Given the description of an element on the screen output the (x, y) to click on. 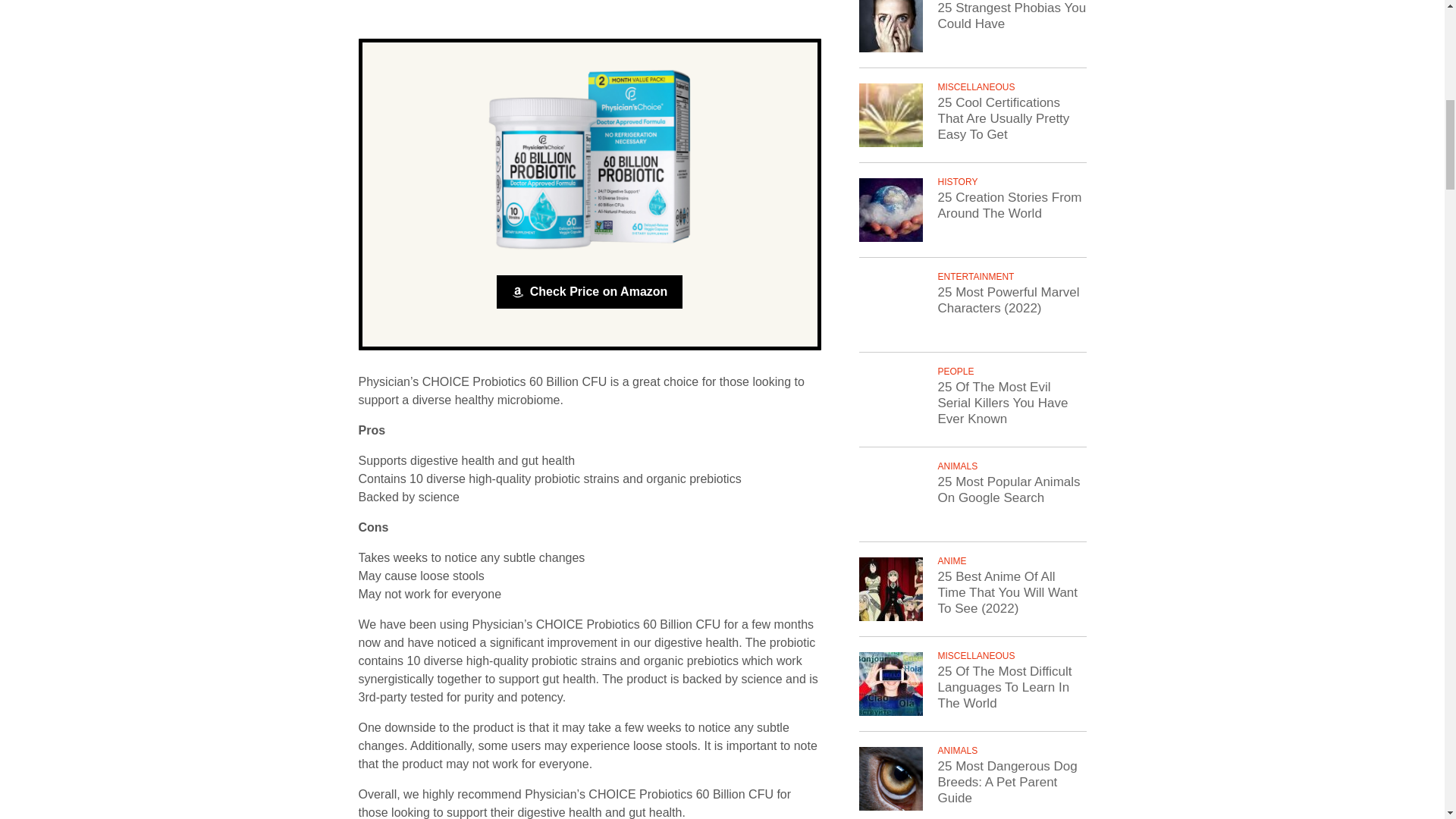
25 strangest phobias you could have 10 (890, 26)
25 creation stories from around the world 12 (890, 209)
25 of the most evil serial killers you have ever known 14 (890, 399)
25 most popular animals on google search 15 (890, 494)
Check Price on Amazon (589, 291)
